Given the description of an element on the screen output the (x, y) to click on. 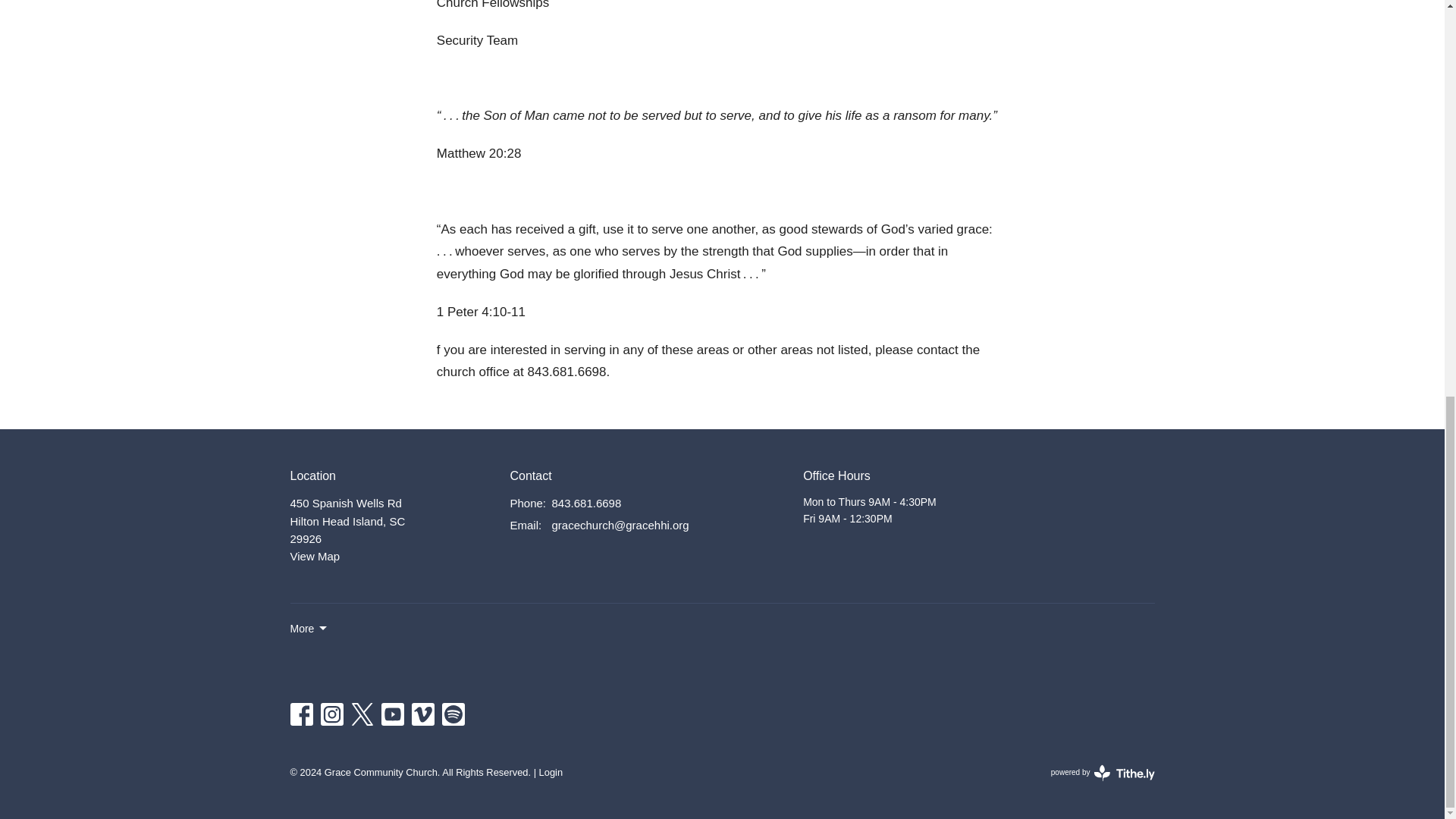
View Map (1102, 772)
843.681.6698 (314, 555)
Login (586, 502)
translation missing: en.ui.email (550, 772)
More (523, 524)
